Given the description of an element on the screen output the (x, y) to click on. 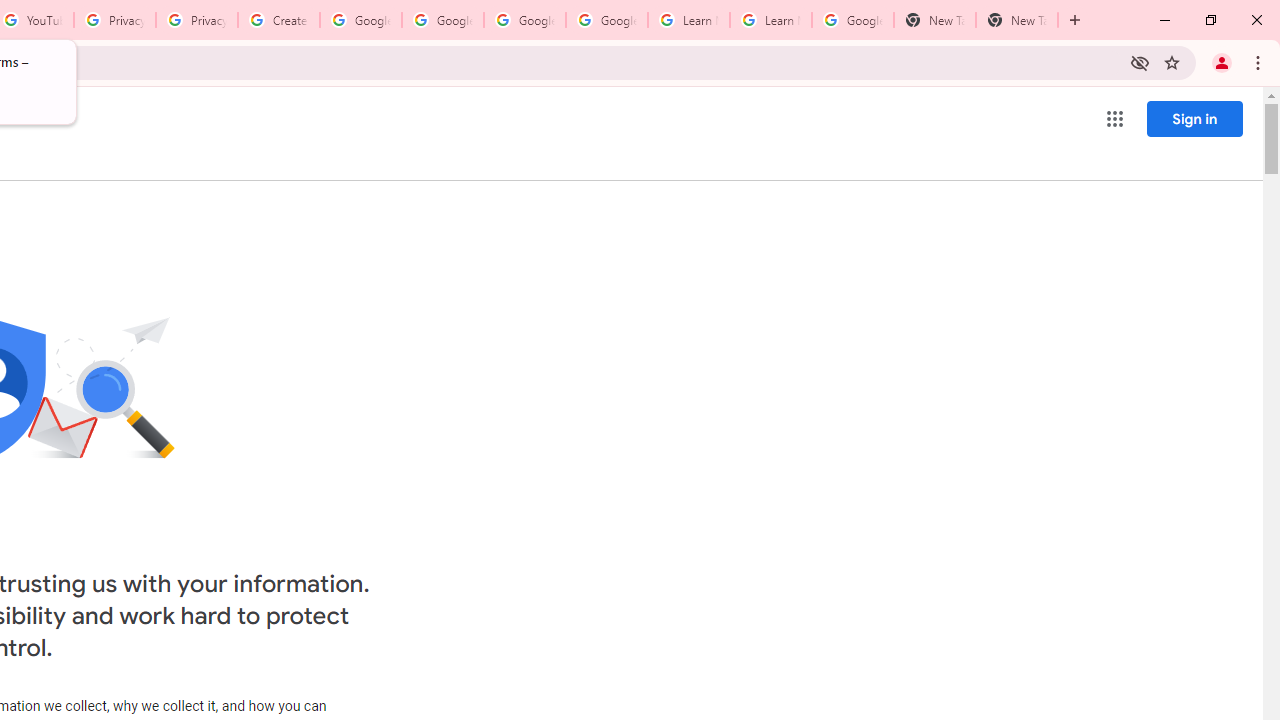
New Tab (1016, 20)
Create your Google Account (278, 20)
Google Account Help (442, 20)
Google Account Help (360, 20)
